Given the description of an element on the screen output the (x, y) to click on. 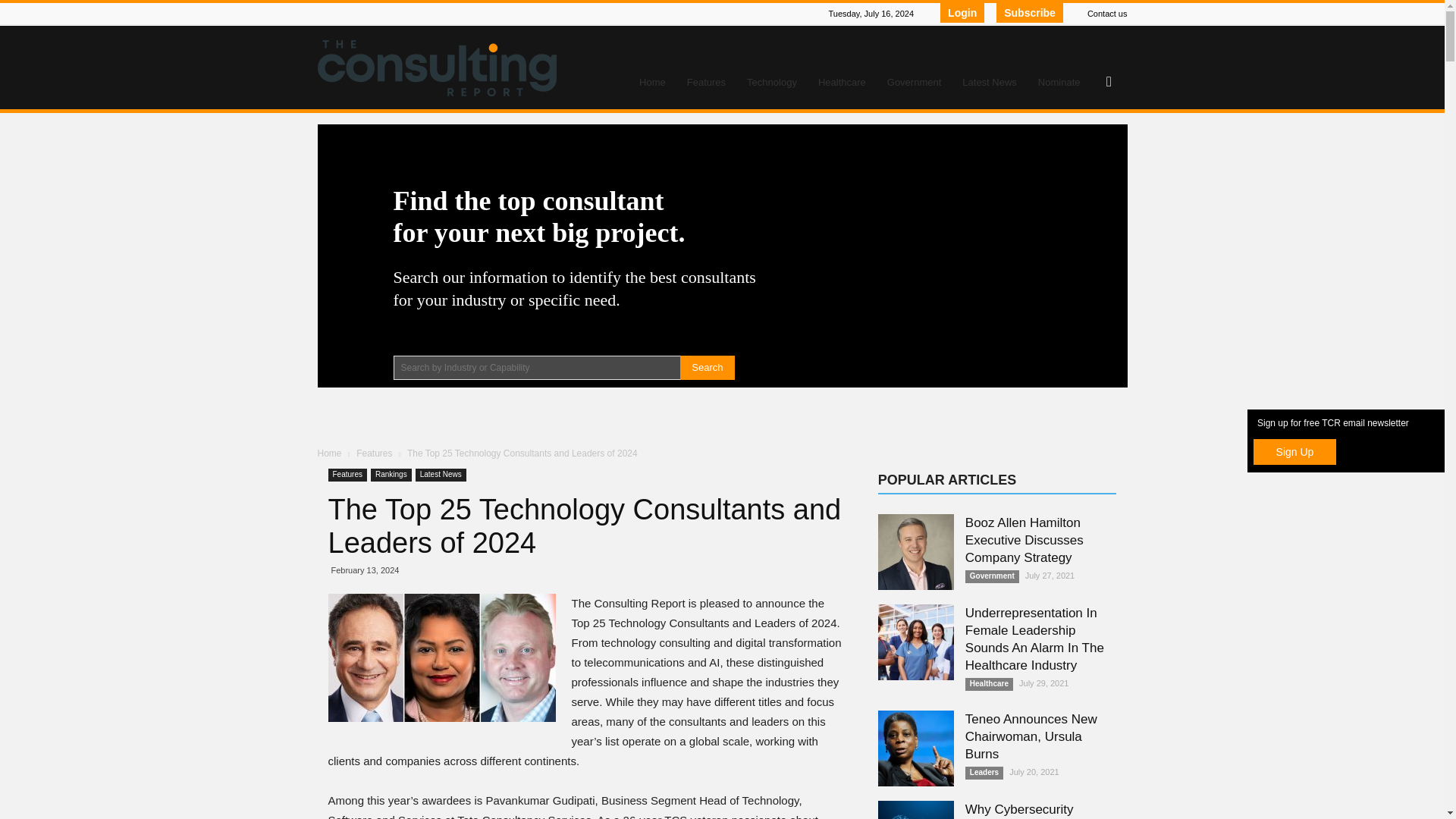
View all posts in Features (375, 452)
Subscribe (1028, 12)
Contact us (1106, 13)
TCR Technology (440, 657)
Login (962, 12)
Sign Up (1294, 451)
Search (706, 367)
